Given the description of an element on the screen output the (x, y) to click on. 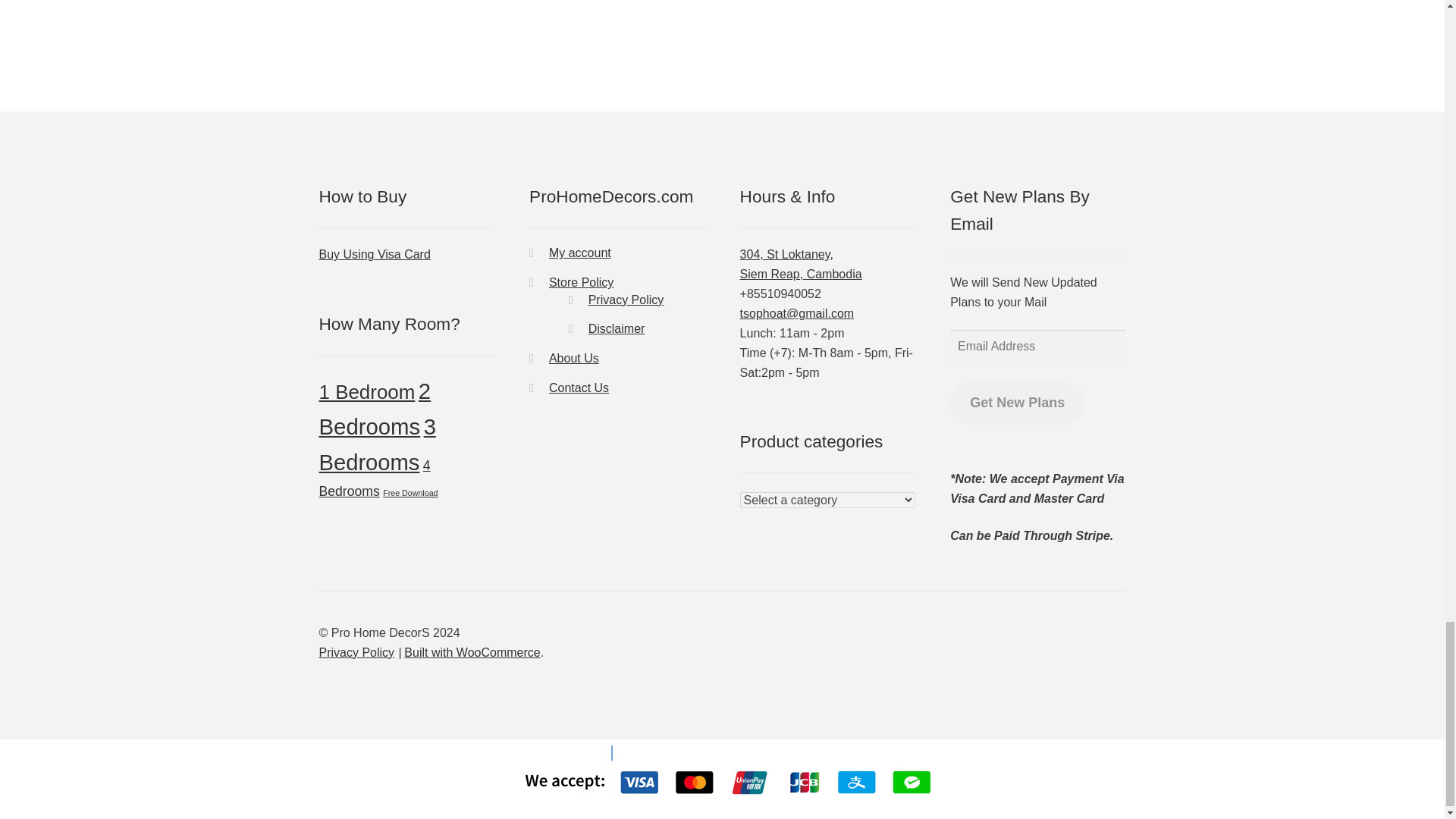
WooCommerce - The Best eCommerce Platform for WordPress (472, 652)
